Given the description of an element on the screen output the (x, y) to click on. 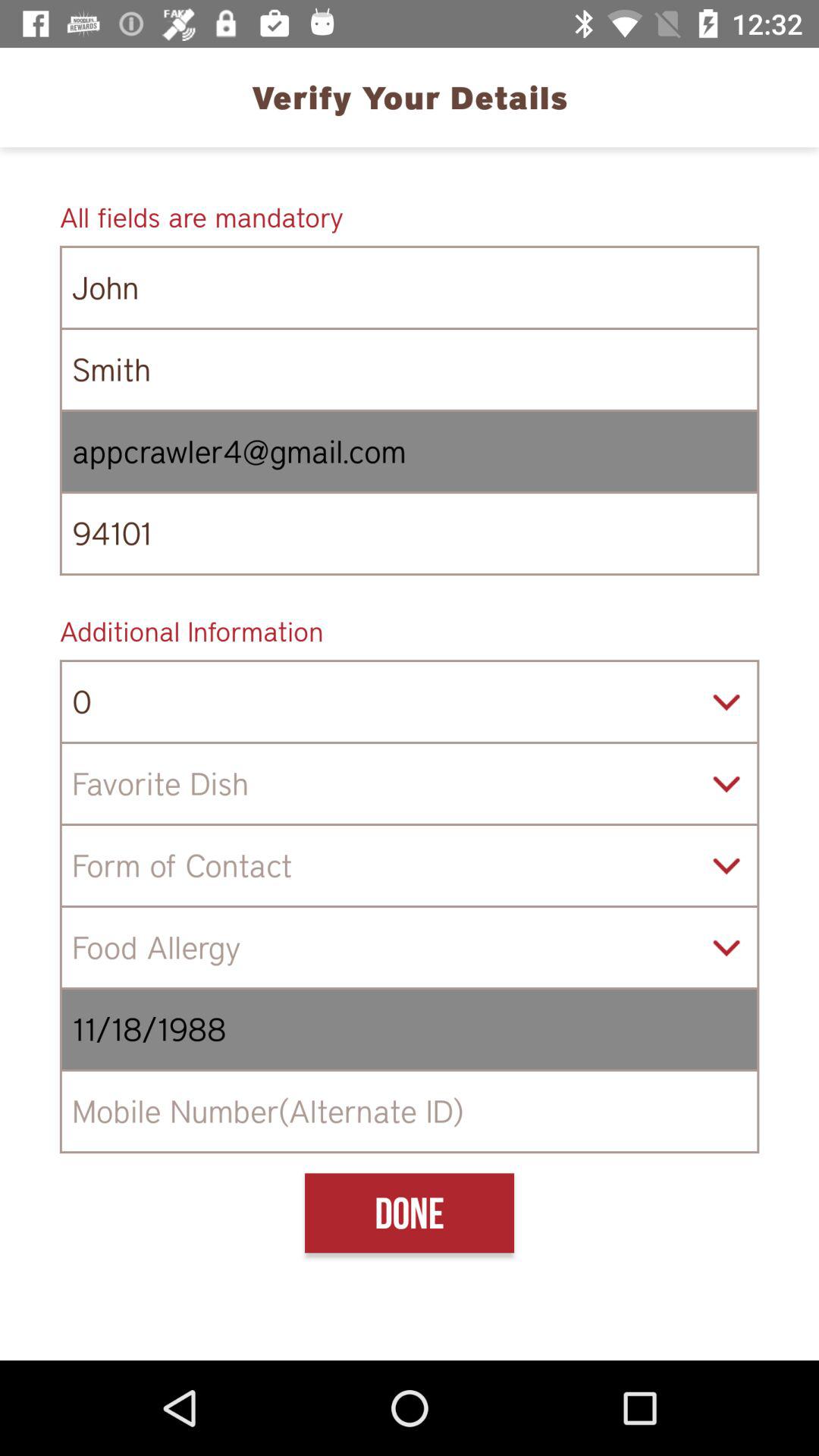
turn off 0 icon (409, 701)
